Given the description of an element on the screen output the (x, y) to click on. 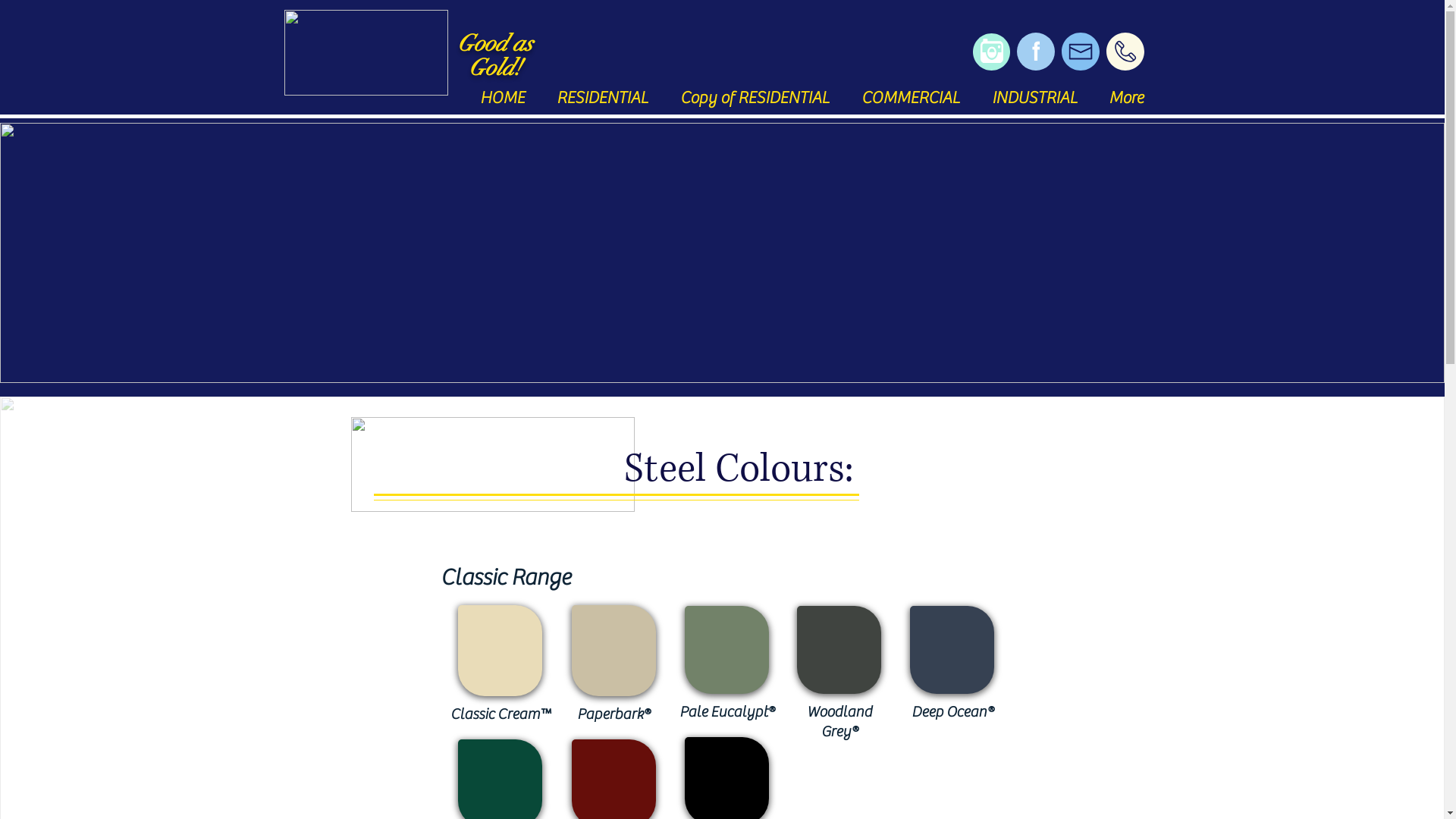
f Element type: text (1035, 51)
INDUSTRIAL Element type: text (1033, 97)
Copy of RESIDENTIAL Element type: text (754, 97)
COMMERCIAL Element type: text (909, 97)
HOME Element type: text (502, 97)
RESIDENTIAL Element type: text (601, 97)
